Given the description of an element on the screen output the (x, y) to click on. 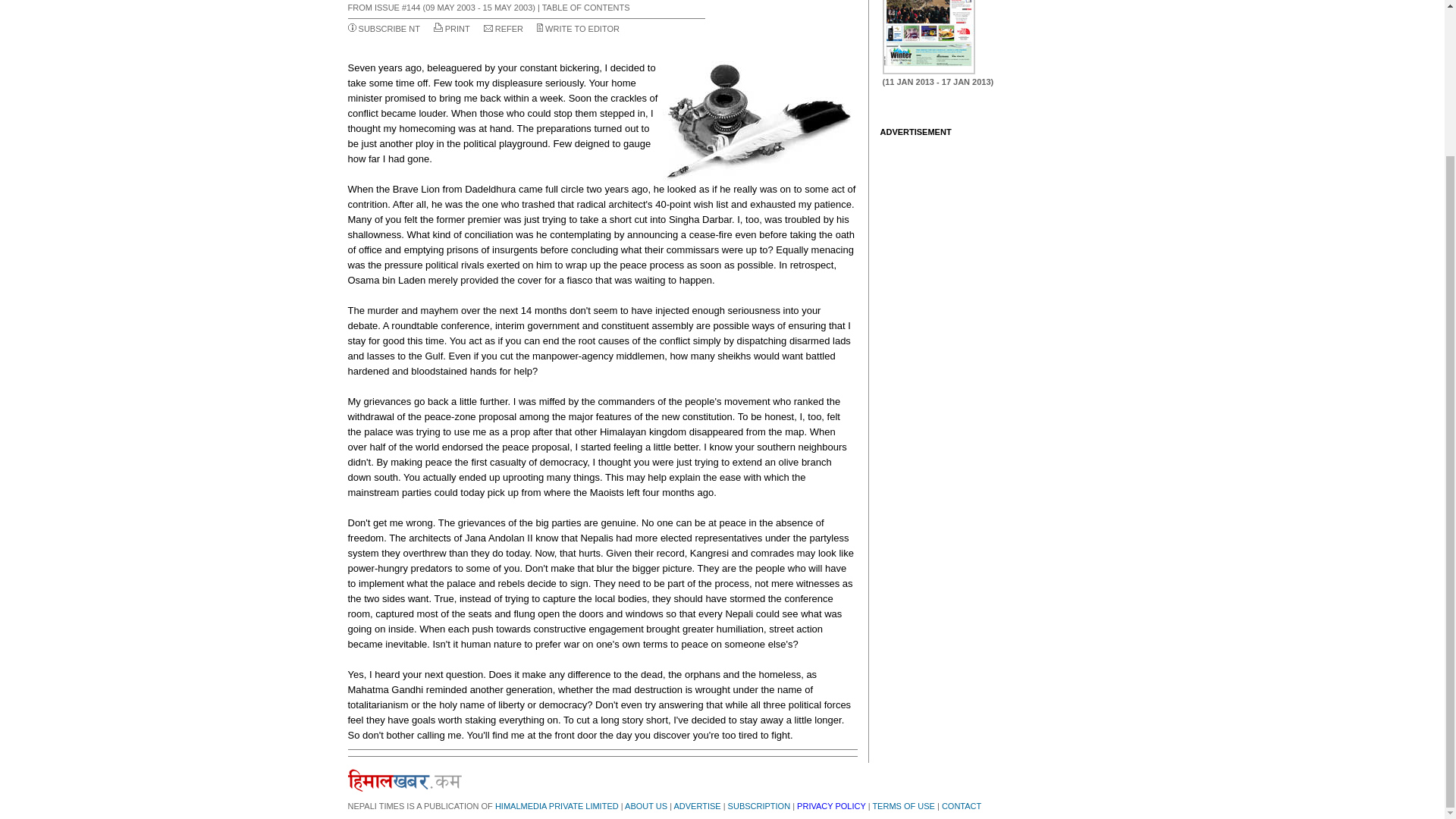
SUBSCRIPTION (759, 805)
WRITE TO EDITOR (582, 28)
638 (928, 37)
HIMALMEDIA PRIVATE LIMITED (556, 805)
CONTACT (961, 805)
SUBSCRIBE NT (389, 28)
ABOUT US (645, 805)
PRIVACY POLICY (830, 805)
TABLE OF CONTENTS (585, 7)
himalkhabar.com (404, 780)
